Given the description of an element on the screen output the (x, y) to click on. 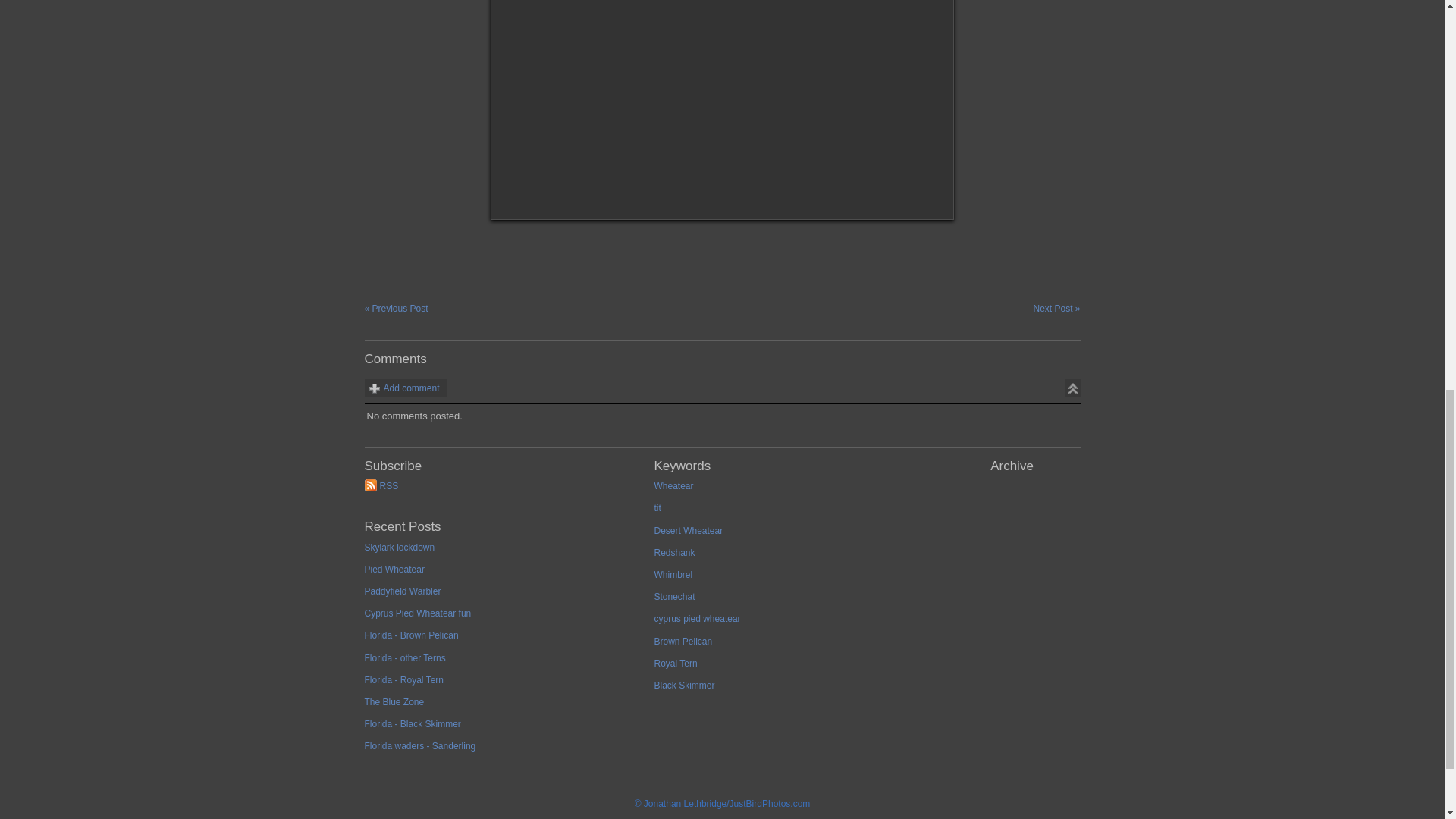
Florida - Brown Pelican (503, 639)
Desert Wheatear (792, 535)
Florida - other Terns (503, 662)
The Blue Zone (503, 706)
Paddyfield Warbler (503, 595)
tit (792, 512)
RSS (503, 490)
Cyprus Pied Wheatear fun (503, 617)
Redshank (792, 557)
Wheatear (792, 490)
Add comment (405, 388)
Whimbrel (792, 578)
Florida - Royal Tern (503, 684)
Florida waders - Sanderling (503, 750)
Florida - Black Skimmer (503, 728)
